Given the description of an element on the screen output the (x, y) to click on. 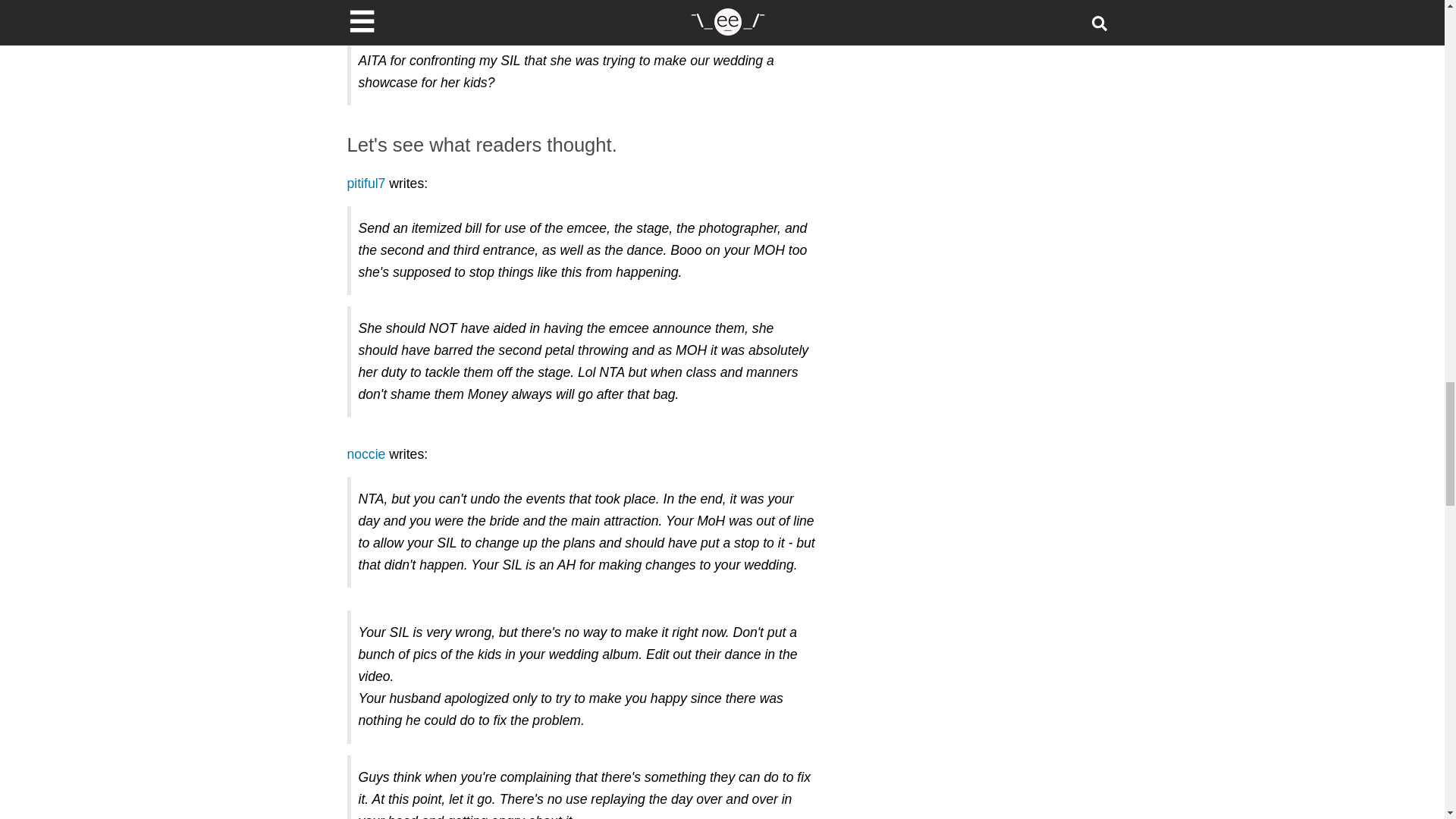
pitiful7 (366, 183)
noccie (366, 453)
